Given the description of an element on the screen output the (x, y) to click on. 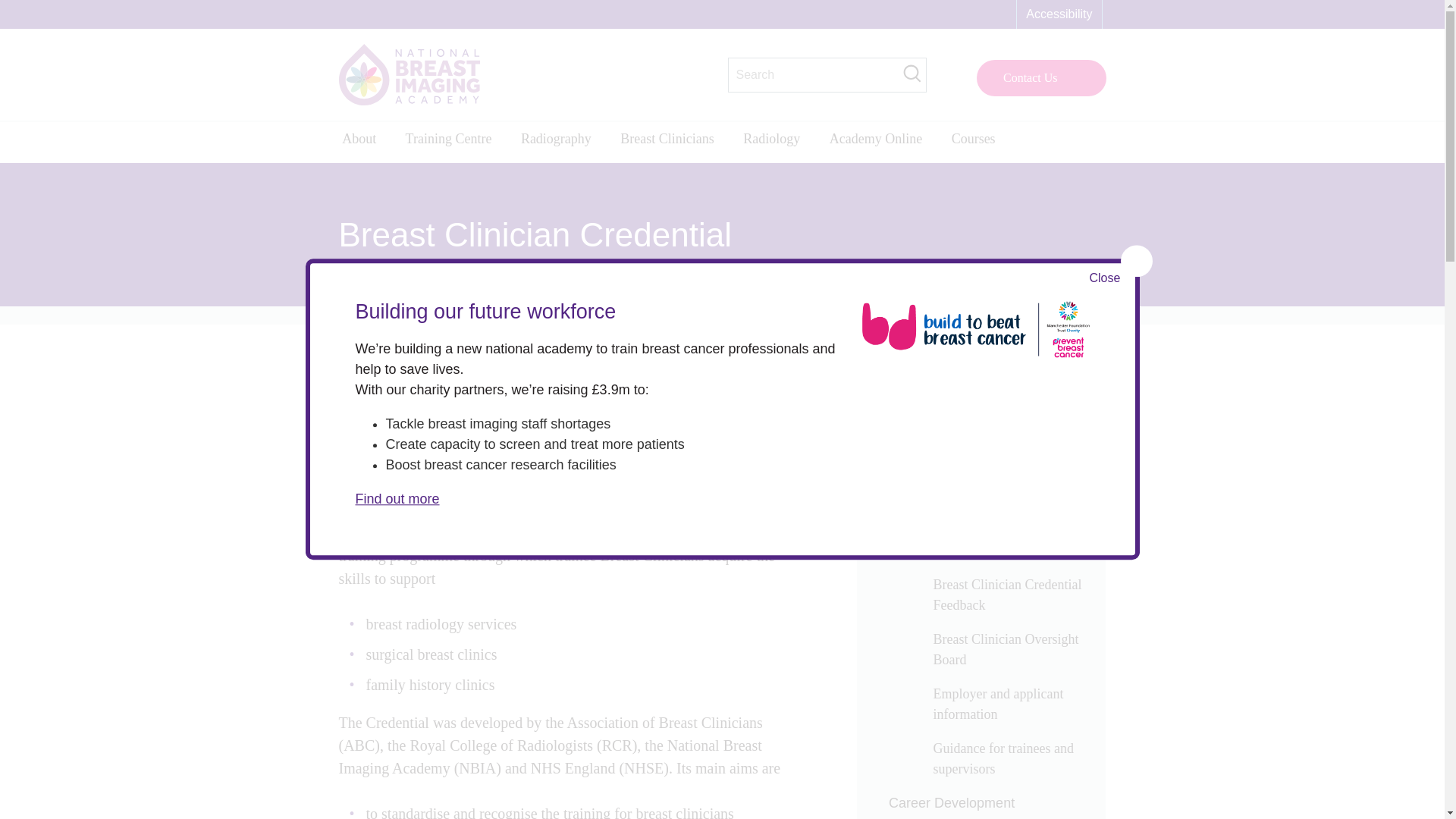
Breast Clinicians (676, 142)
Accessibility (1058, 14)
Go to homepage (408, 74)
National Breast Imaging Academy (408, 74)
Contact Us (1041, 76)
About (367, 142)
Training Centre (457, 142)
Radiography (564, 142)
Radiology (780, 142)
Screenshot 2021-01-22 at 08.54.53 (558, 433)
